Given the description of an element on the screen output the (x, y) to click on. 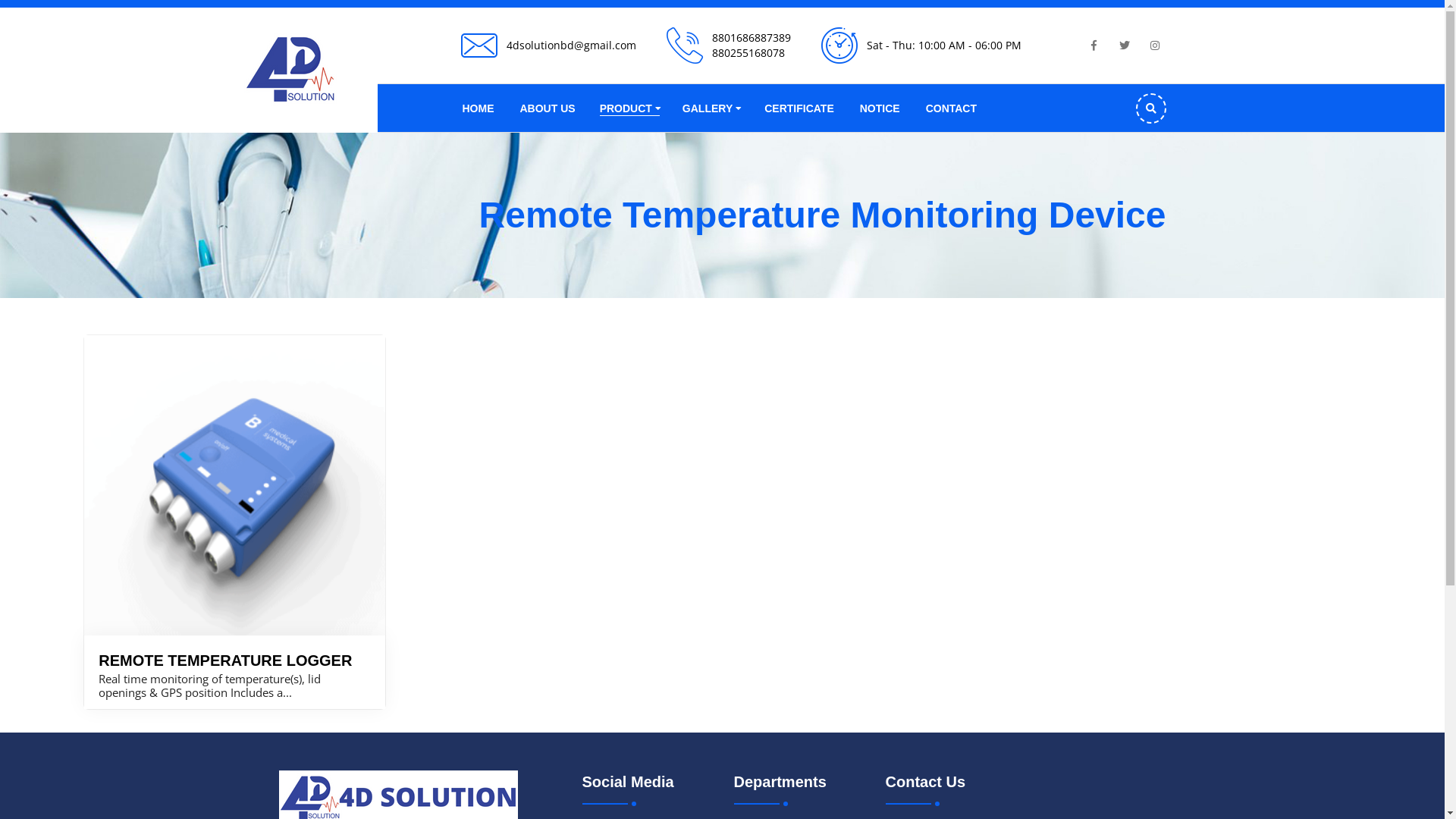
HOME Element type: text (478, 108)
ABOUT US Element type: text (547, 108)
CONTACT Element type: text (951, 108)
CERTIFICATE Element type: text (798, 108)
NOTICE Element type: text (879, 108)
REMOTE TEMPERATURE LOGGER Element type: text (224, 660)
